Given the description of an element on the screen output the (x, y) to click on. 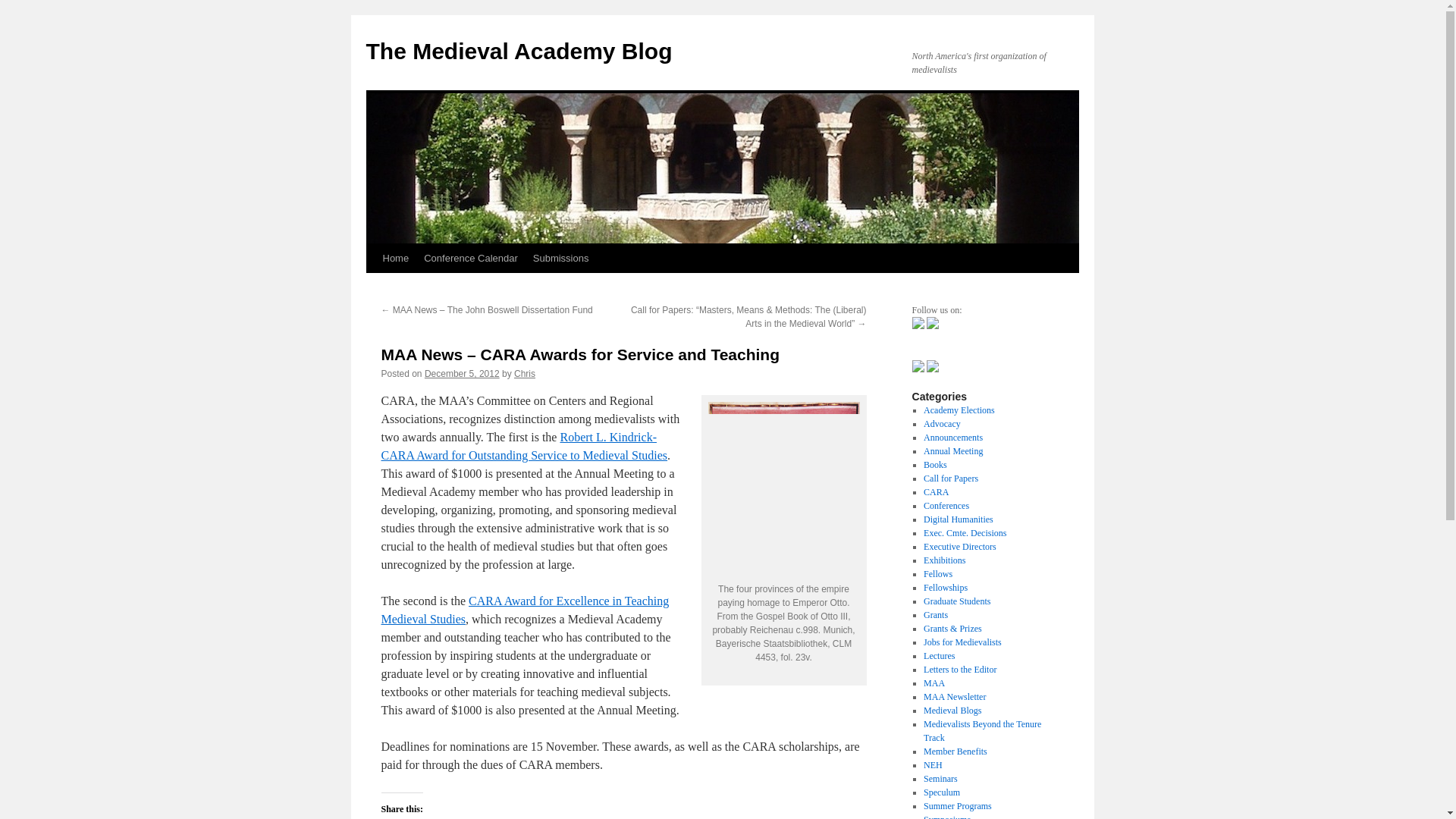
Digital Humanities (957, 519)
Graduate Students (956, 601)
Grants (935, 614)
Annual Meeting (952, 450)
Fellowships (945, 587)
December 5, 2012 (462, 373)
10:45 am (462, 373)
CARA (936, 491)
Books (935, 464)
